Given the description of an element on the screen output the (x, y) to click on. 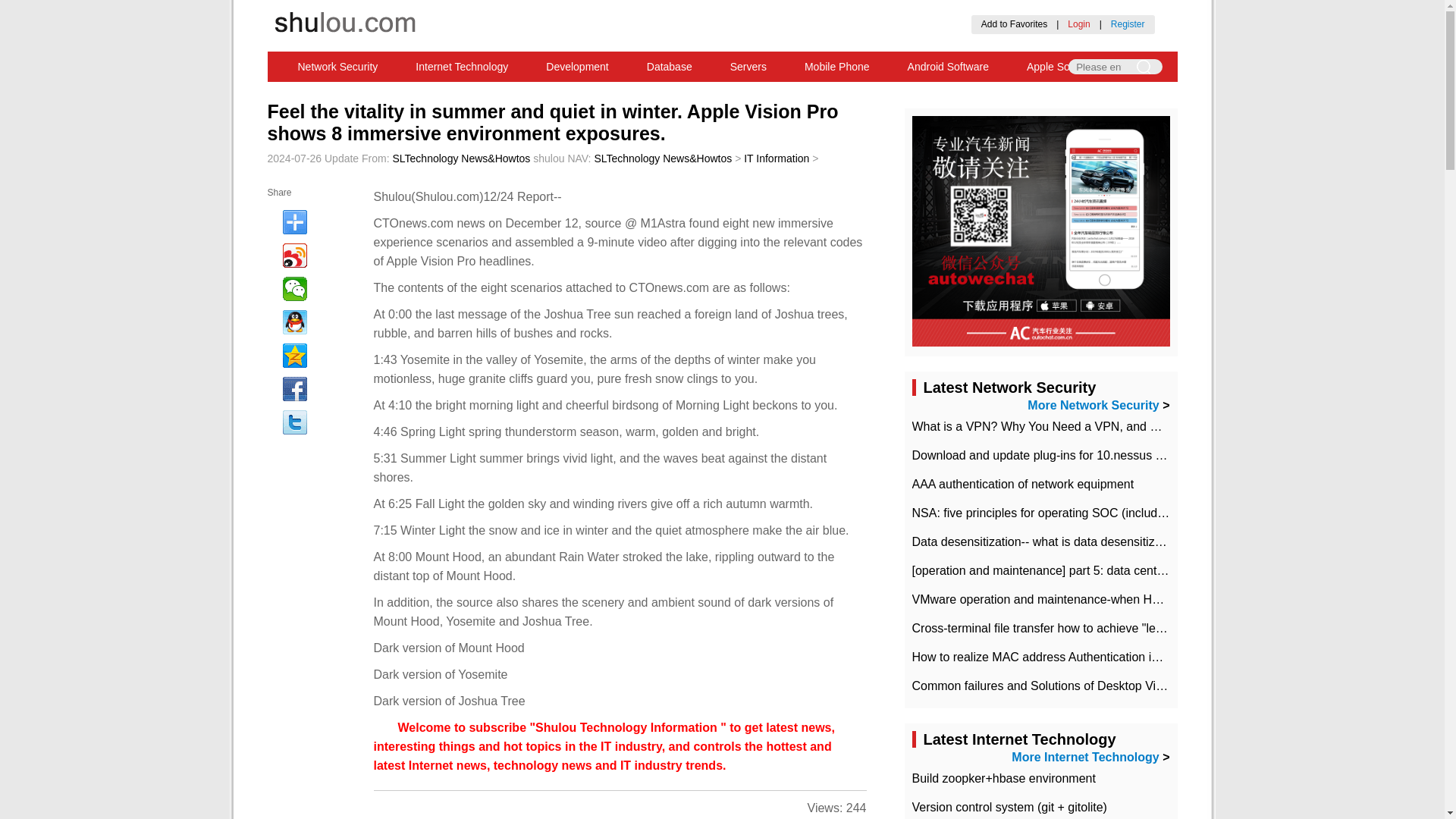
Apple Software (1062, 66)
Apple Software (1062, 66)
Register (1127, 23)
Add to Favorites (1013, 23)
IT Information (776, 158)
Development (577, 66)
Login (1078, 23)
Internet Technology (461, 66)
Mobile Phone (837, 66)
Network Security (338, 66)
Network Security (338, 66)
Android Software (947, 66)
Contact us (750, 169)
Internet Technology (461, 66)
About us (678, 169)
